Given the description of an element on the screen output the (x, y) to click on. 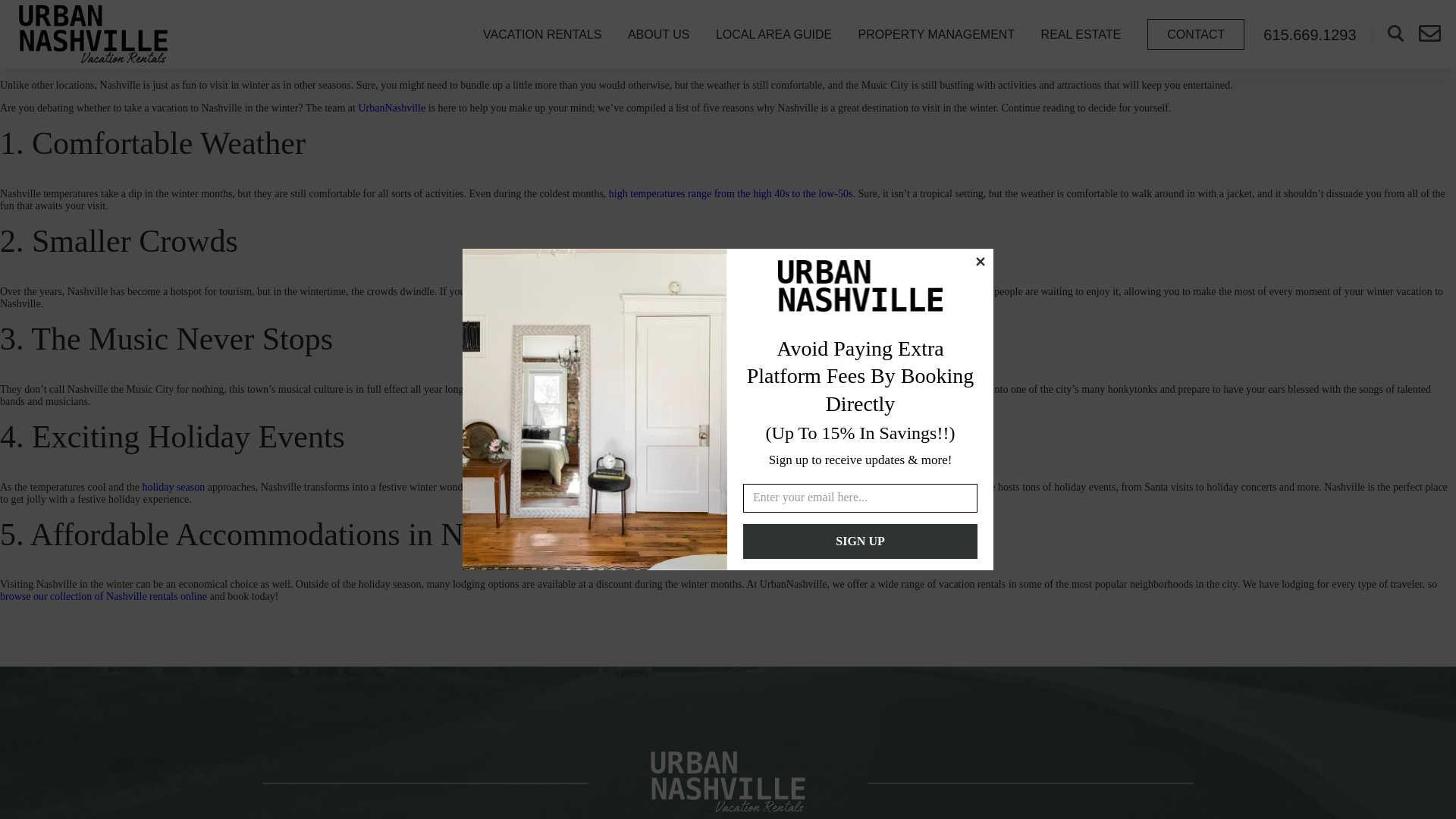
Sign Up (859, 541)
ABOUT US (658, 34)
Close (980, 261)
VACATION RENTALS (541, 34)
